Given the description of an element on the screen output the (x, y) to click on. 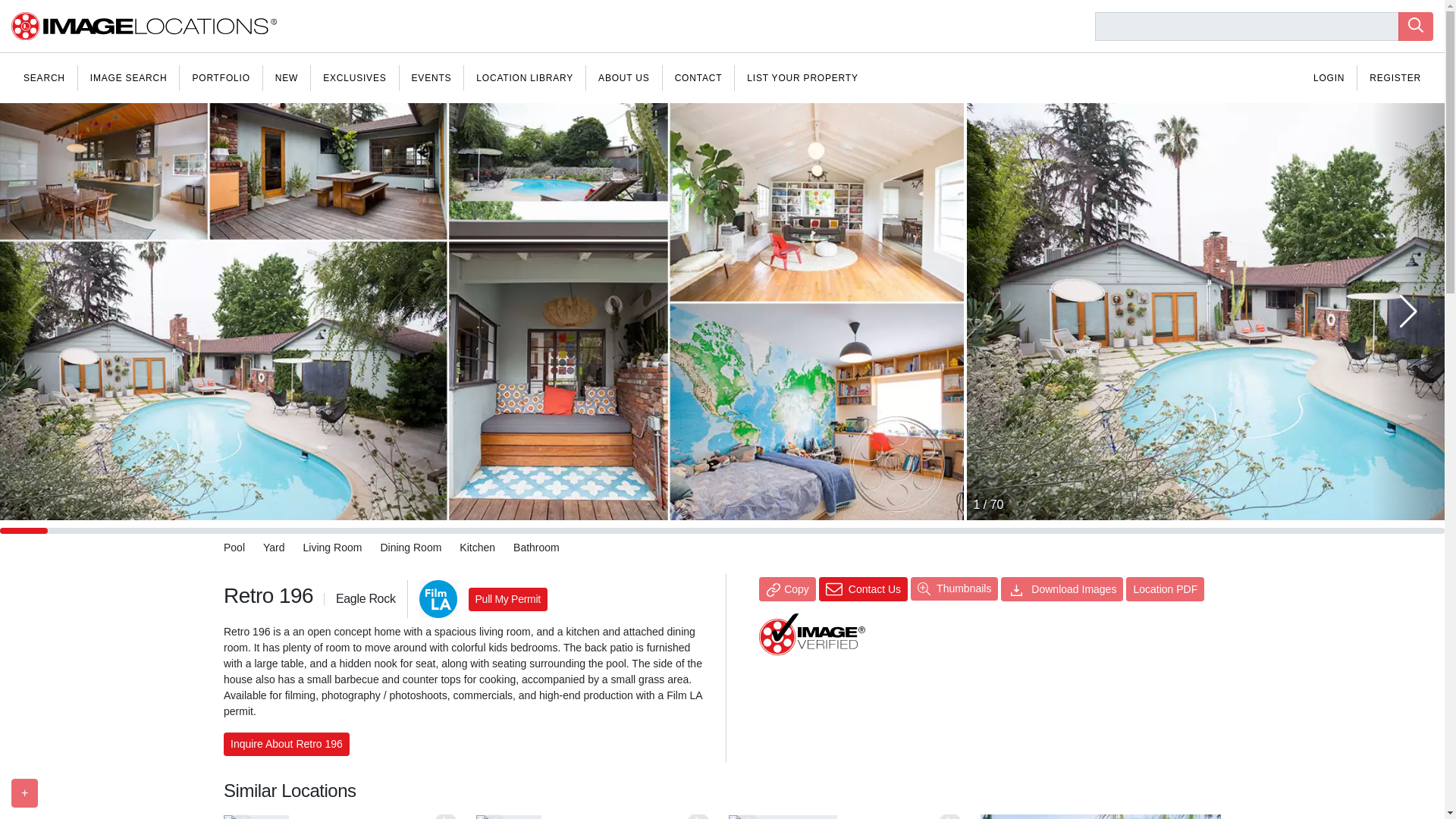
LIST YOUR PROPERTY (802, 77)
SEARCH (44, 77)
NEW (286, 77)
CONTACT (698, 77)
Download Images (1061, 589)
EVENTS (431, 77)
Location PDF (1164, 589)
Thumbnails (954, 588)
ABOUT US (624, 77)
LOCATION LIBRARY (524, 77)
Contact Us (862, 589)
Image Locations Logo (143, 26)
REGISTER (1394, 77)
EXCLUSIVES (354, 77)
Copy (786, 589)
